Given the description of an element on the screen output the (x, y) to click on. 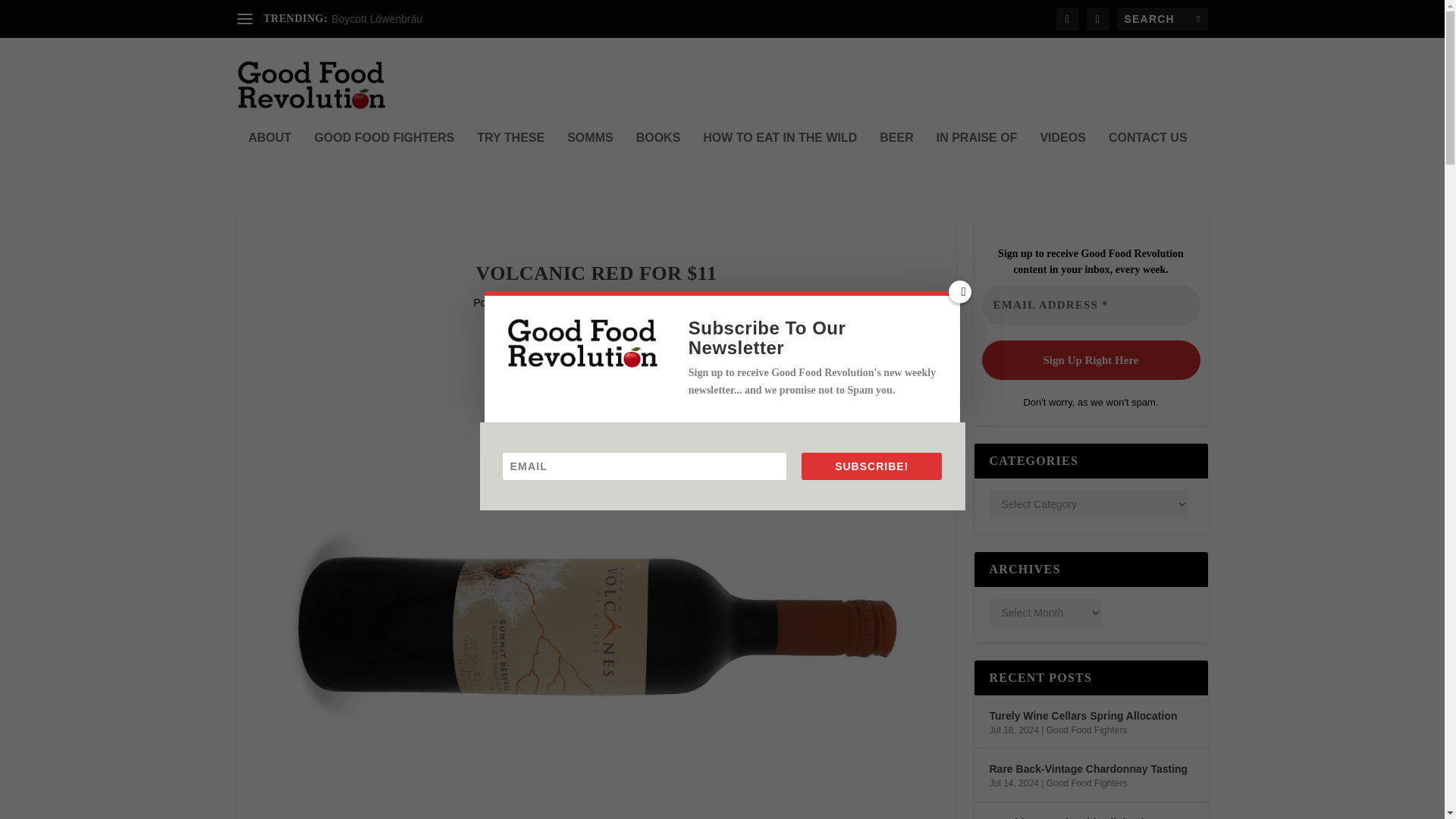
TRY THESE (510, 158)
HOW TO EAT IN THE WILD (780, 158)
Posts by Jamie Drummond (564, 302)
Search for: (1161, 18)
IN PRAISE OF (976, 158)
CONTACT US (1148, 158)
Sign Up Right Here (1090, 359)
GOOD FOOD FIGHTERS (384, 158)
